Given the description of an element on the screen output the (x, y) to click on. 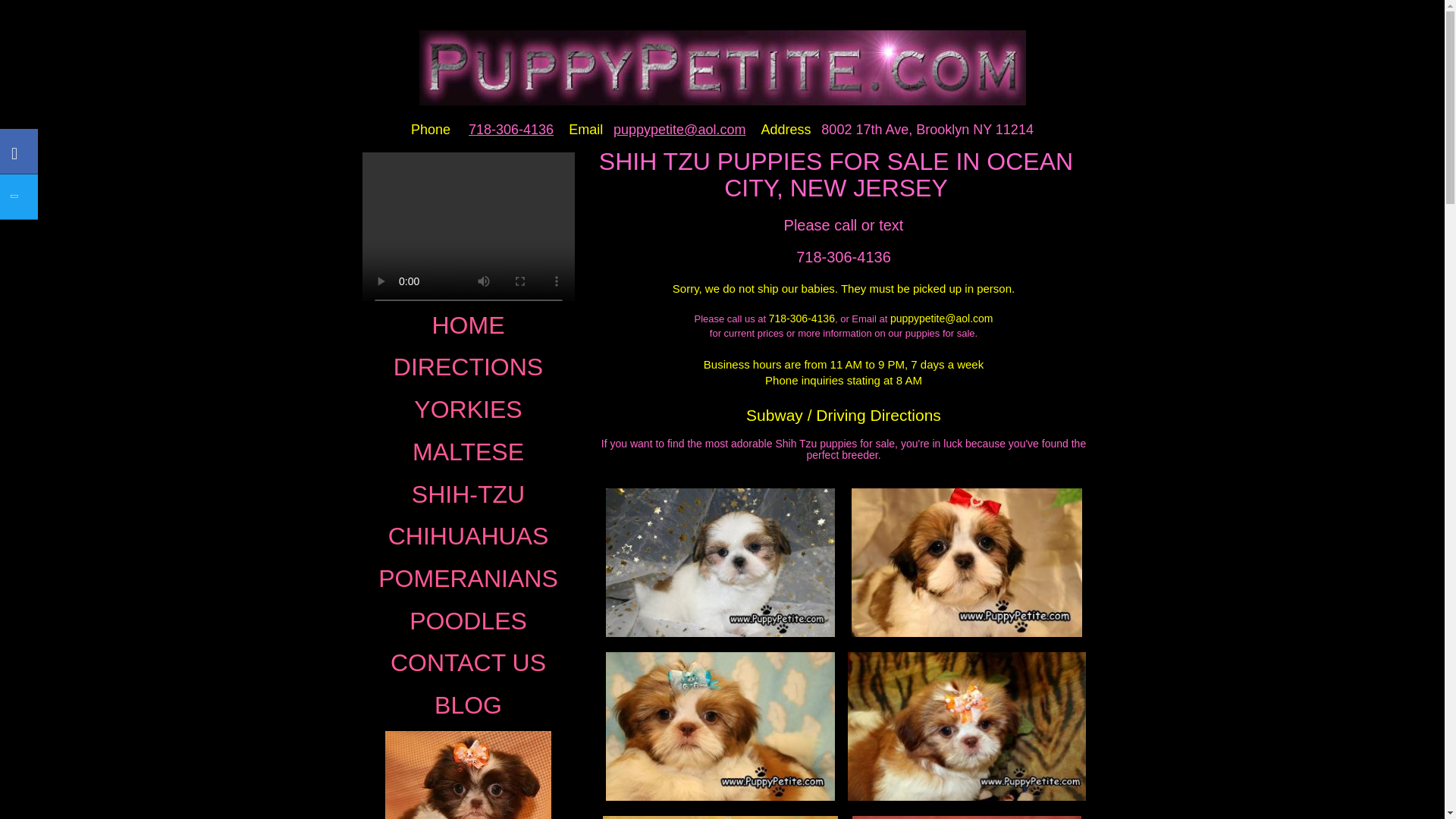
YORKIES (467, 410)
CONTACT US (467, 663)
718-306-4136 (843, 256)
BLOG (467, 705)
SHIH-TZU (467, 494)
718-306-4136 (507, 130)
POODLES (467, 621)
718-306-4136 (801, 319)
CHIHUAHUAS (467, 536)
DIRECTIONS (467, 367)
MALTESE (467, 452)
POMERANIANS (467, 579)
HOME (467, 325)
